Given the description of an element on the screen output the (x, y) to click on. 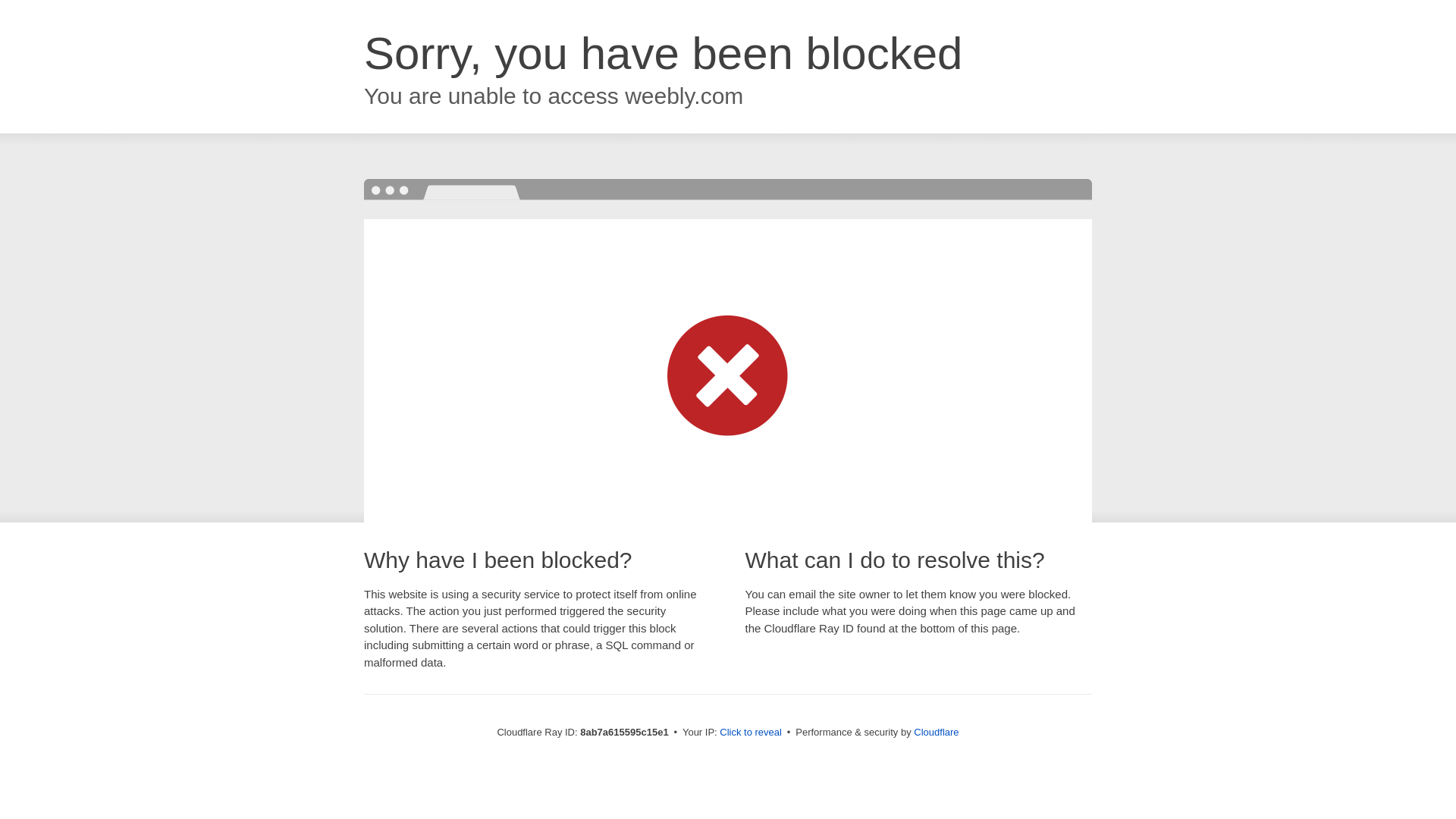
Click to reveal (750, 732)
Cloudflare (936, 731)
